Given the description of an element on the screen output the (x, y) to click on. 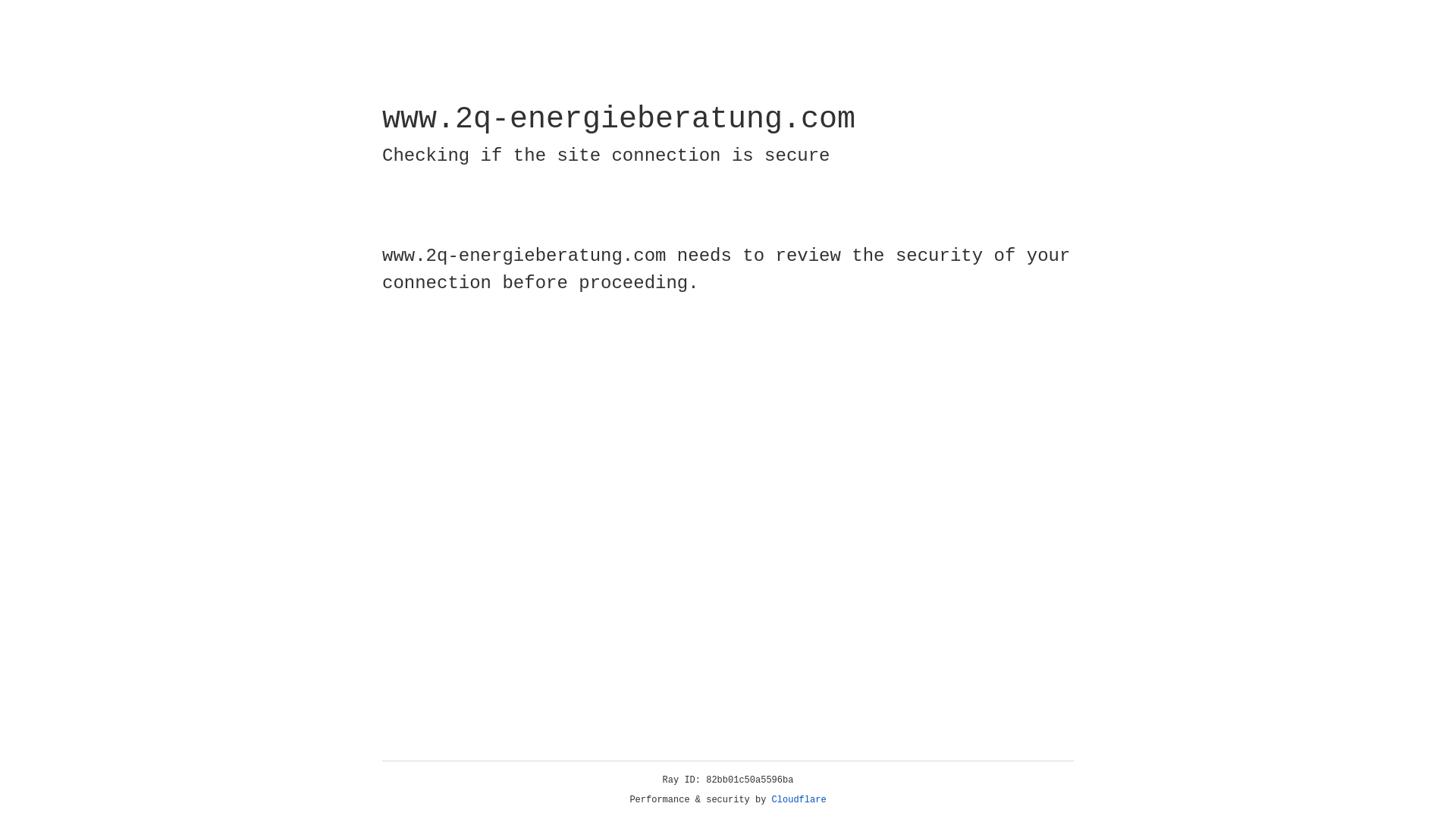
Cloudflare Element type: text (798, 799)
